Given the description of an element on the screen output the (x, y) to click on. 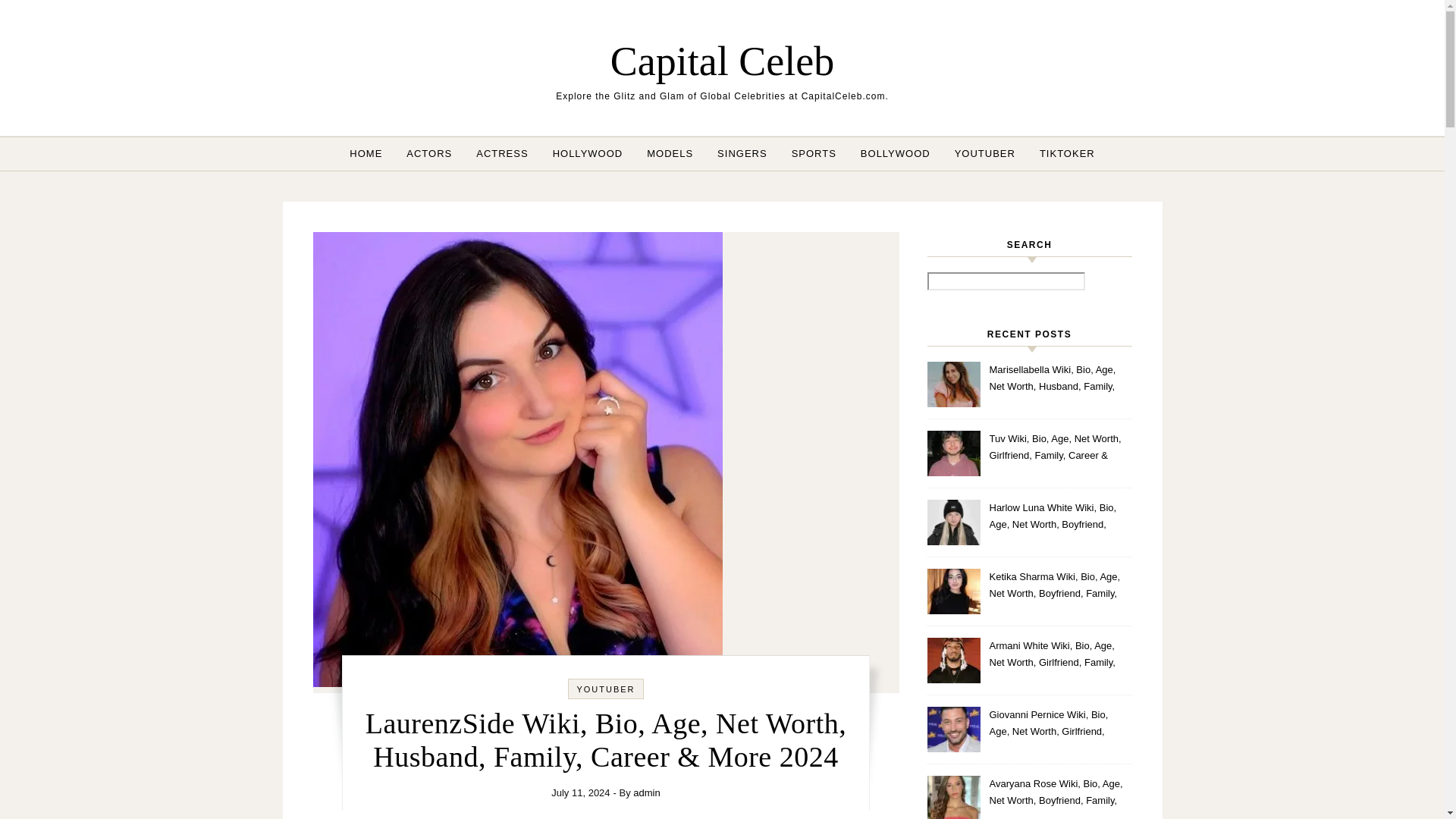
admin (646, 792)
Posts by admin (646, 792)
SINGERS (741, 153)
MODELS (669, 153)
Capital Celeb (722, 61)
ACTORS (429, 153)
HOLLYWOOD (587, 153)
HOME (371, 153)
SPORTS (813, 153)
YOUTUBER (984, 153)
BOLLYWOOD (895, 153)
ACTRESS (502, 153)
YOUTUBER (605, 688)
TIKTOKER (1060, 153)
